Given the description of an element on the screen output the (x, y) to click on. 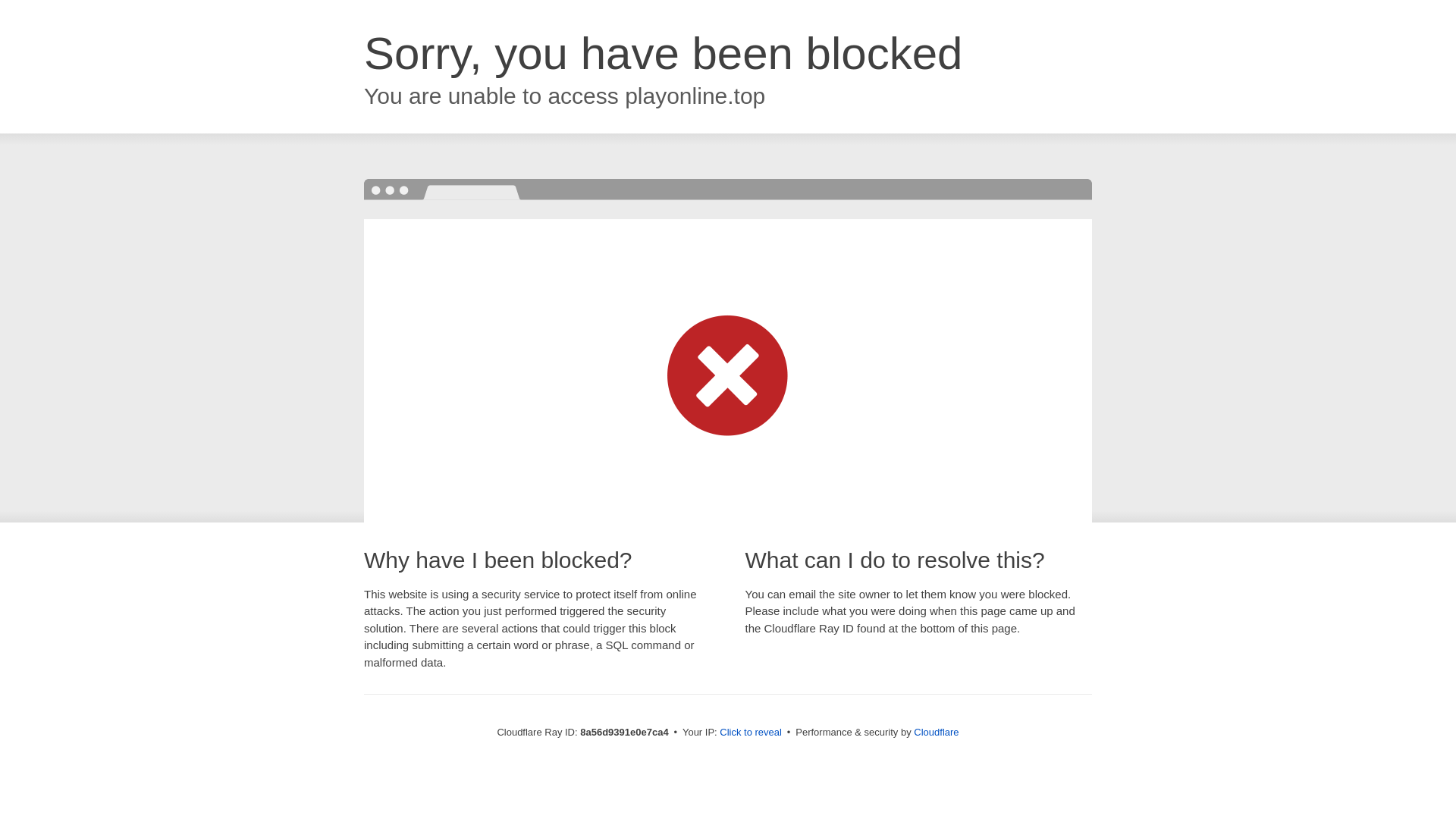
Click to reveal (750, 732)
Cloudflare (936, 731)
